Given the description of an element on the screen output the (x, y) to click on. 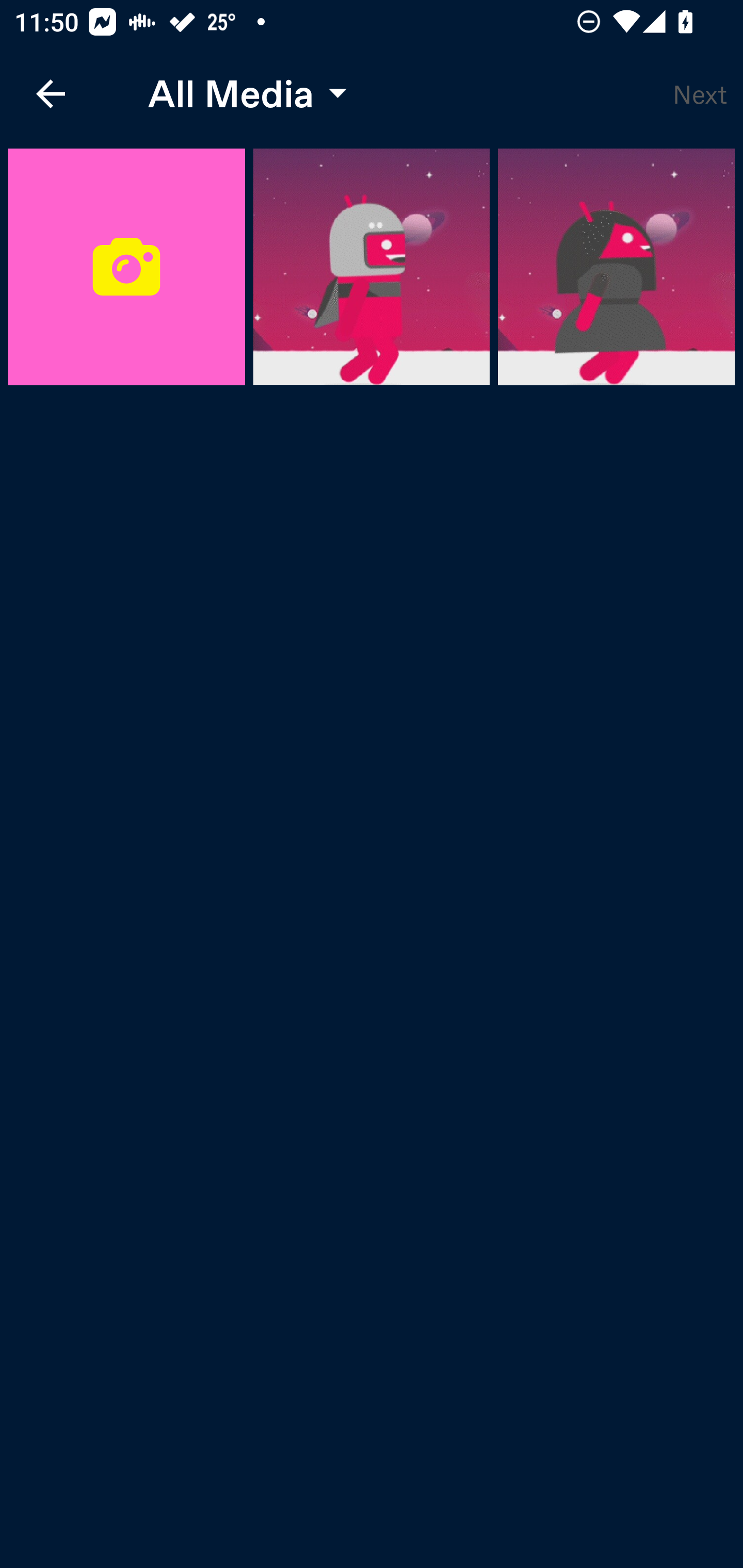
Navigate up (50, 93)
All Media (242, 93)
Next (699, 93)
Gallery Media Item image1 of 3 (371, 266)
Gallery Media Item image2 of 3 (615, 266)
